Given the description of an element on the screen output the (x, y) to click on. 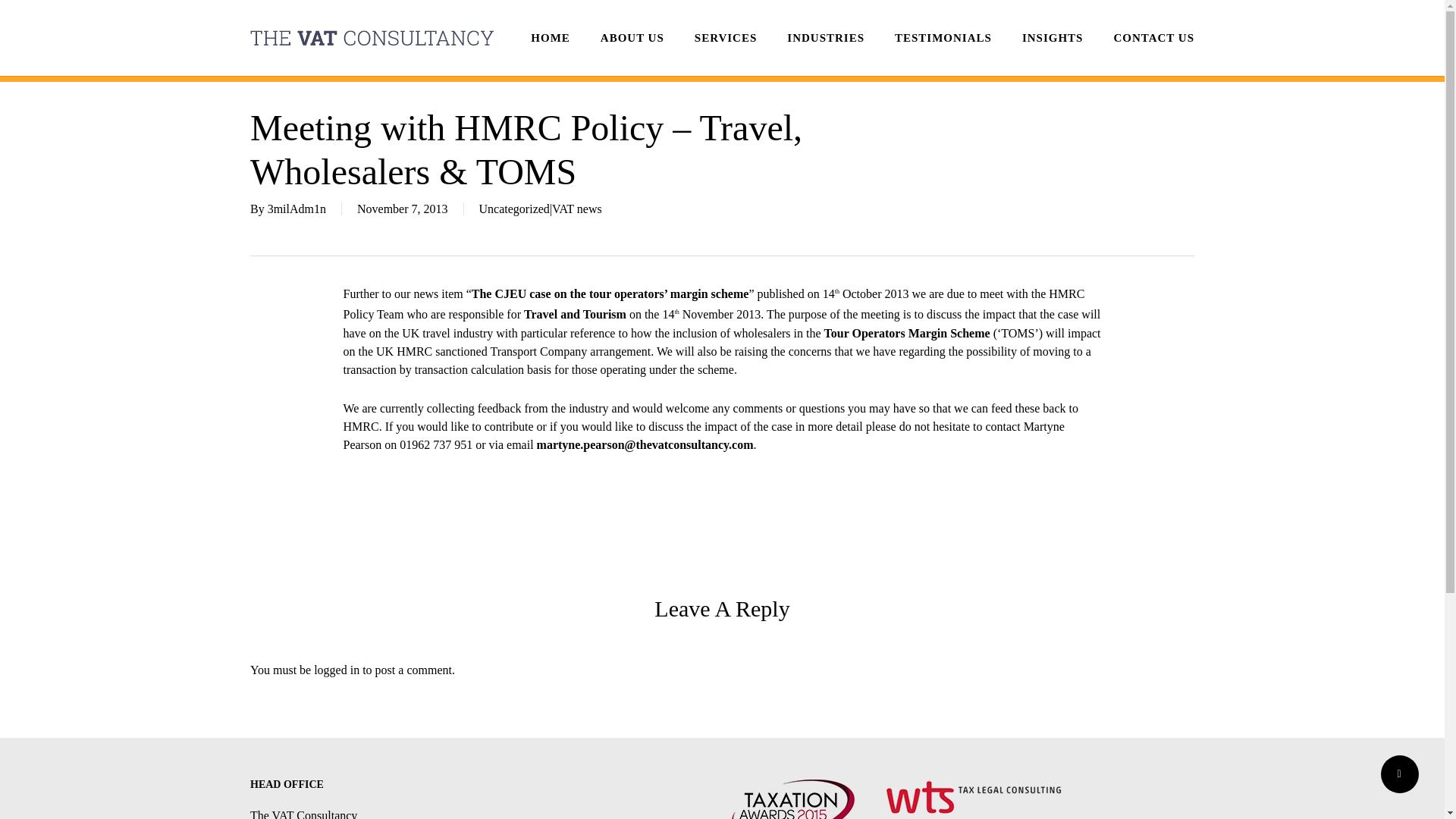
INSIGHTS (1052, 37)
TESTIMONIALS (943, 37)
CONTACT US (1153, 37)
Posts by 3milAdm1n (296, 208)
HOME (550, 37)
ABOUT US (631, 37)
SERVICES (725, 37)
INDUSTRIES (825, 37)
